Given the description of an element on the screen output the (x, y) to click on. 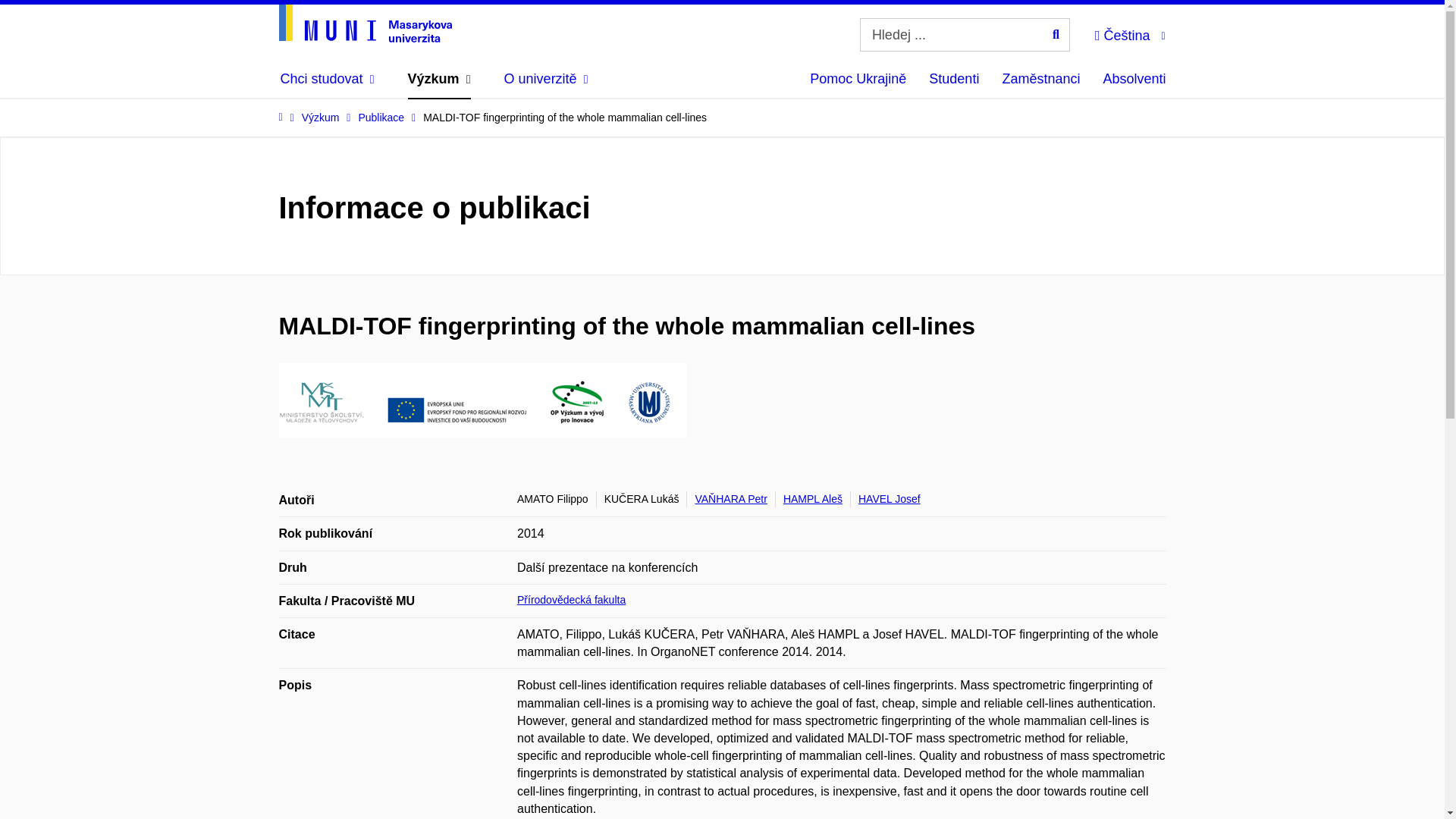
Chci studovat (327, 78)
Homepage webu (365, 23)
